Given the description of an element on the screen output the (x, y) to click on. 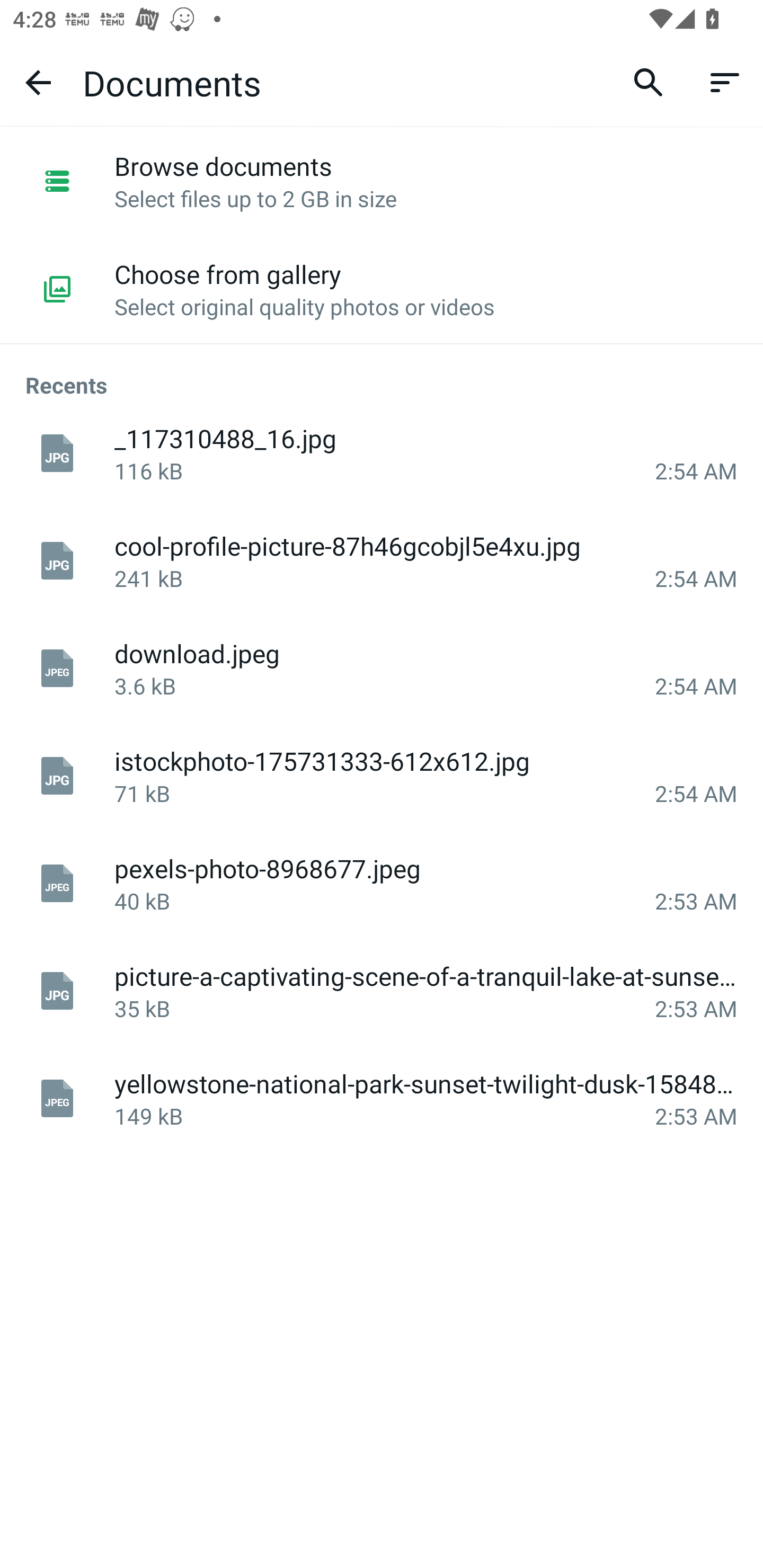
Navigate up (38, 82)
Search (648, 81)
Sort (724, 81)
Browse documents Select files up to 2 GB in size (381, 181)
_117310488_16.jpg 116 kB 2:54 AM 2:54 AM (381, 453)
download.jpeg 3.6 kB 2:54 AM 2:54 AM (381, 668)
pexels-photo-8968677.jpeg 40 kB 2:53 AM 2:53 AM (381, 883)
